Given the description of an element on the screen output the (x, y) to click on. 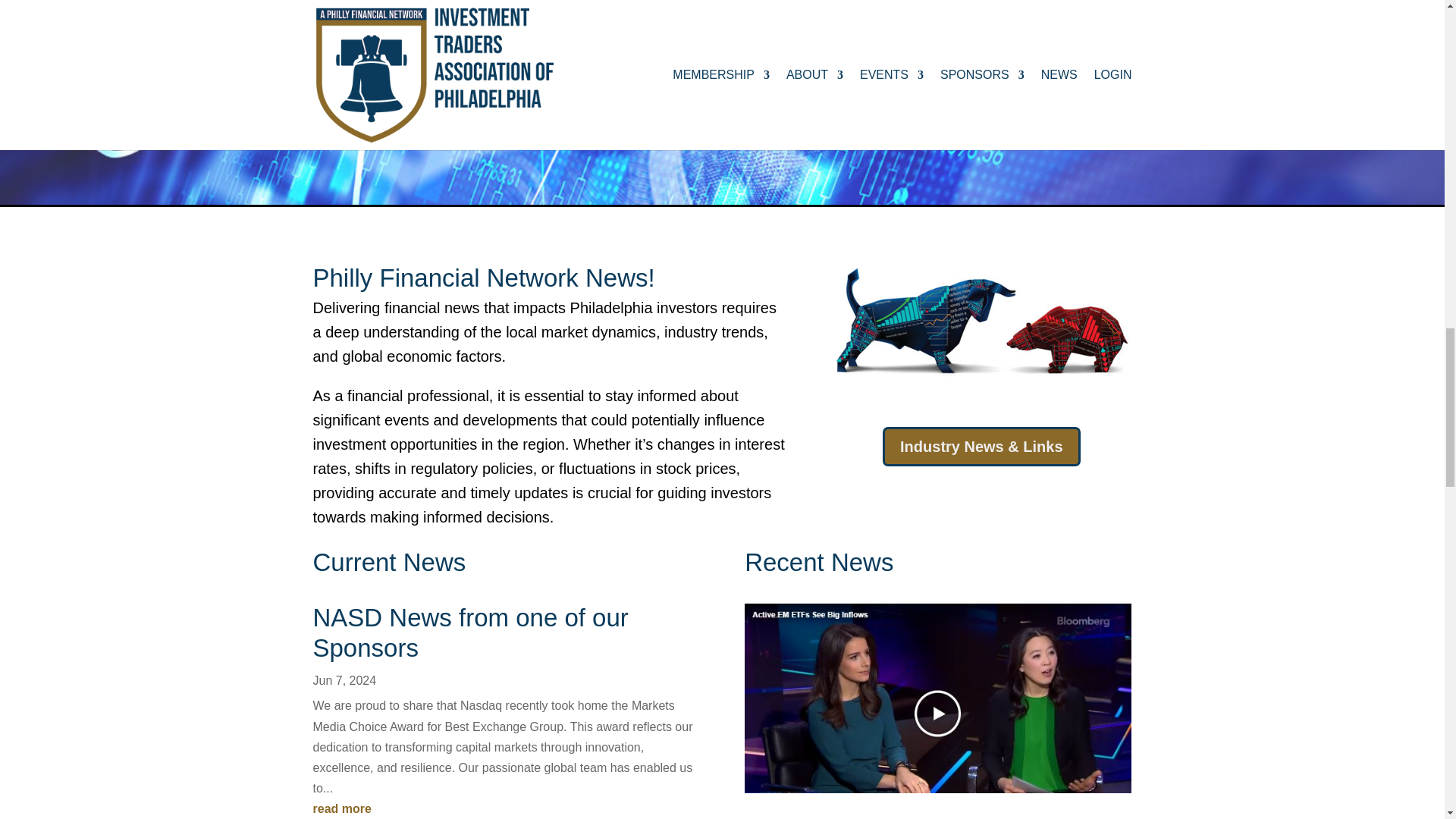
ITAP-bull-bear-market (981, 324)
